Given the description of an element on the screen output the (x, y) to click on. 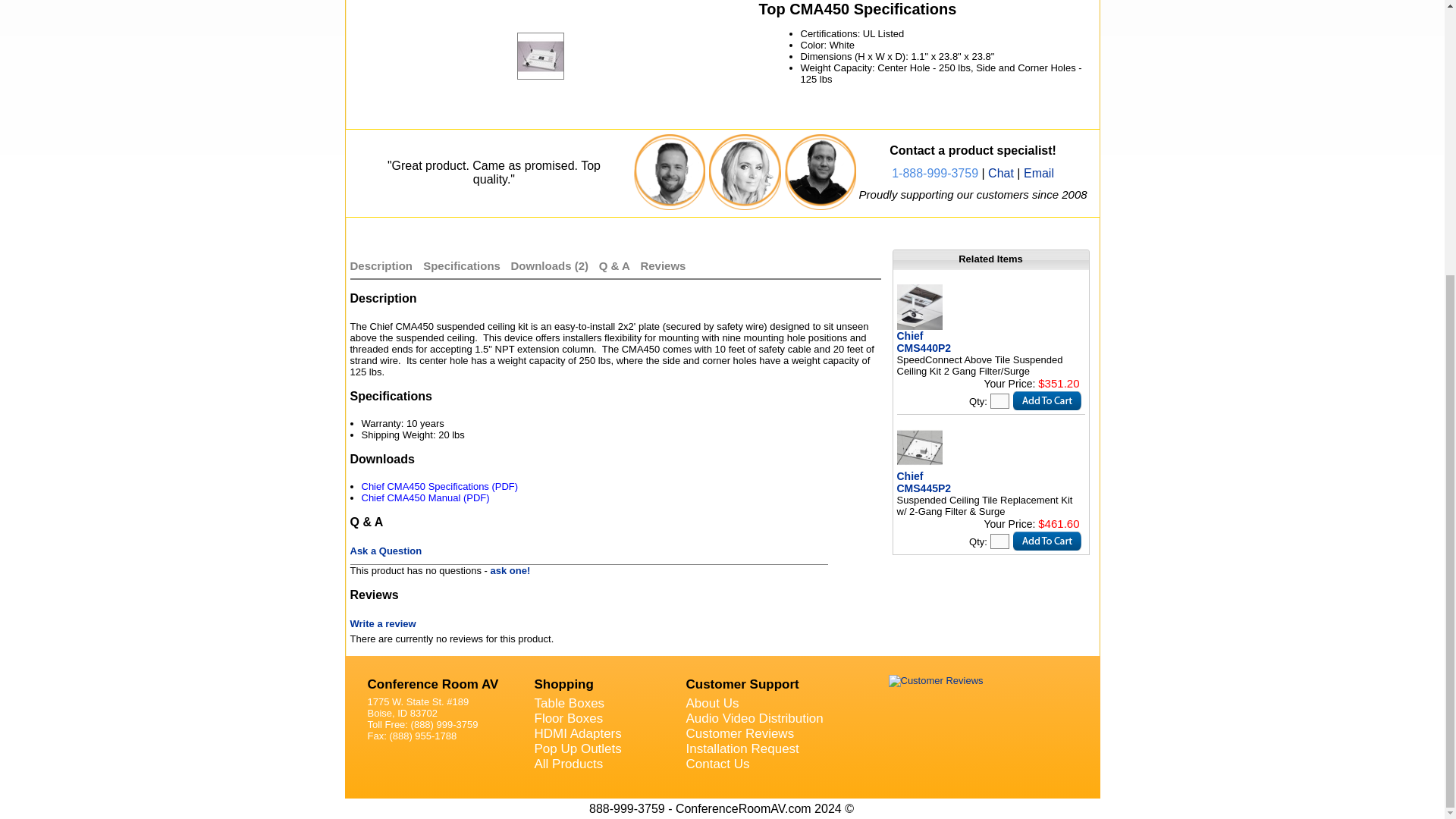
1-888-999-3759 (934, 173)
Specifications (461, 265)
Chief CMA450 (539, 6)
Reviews (662, 265)
Chief CMA450 (554, 55)
Chat (1000, 173)
Email (1038, 173)
Description (381, 265)
